Given the description of an element on the screen output the (x, y) to click on. 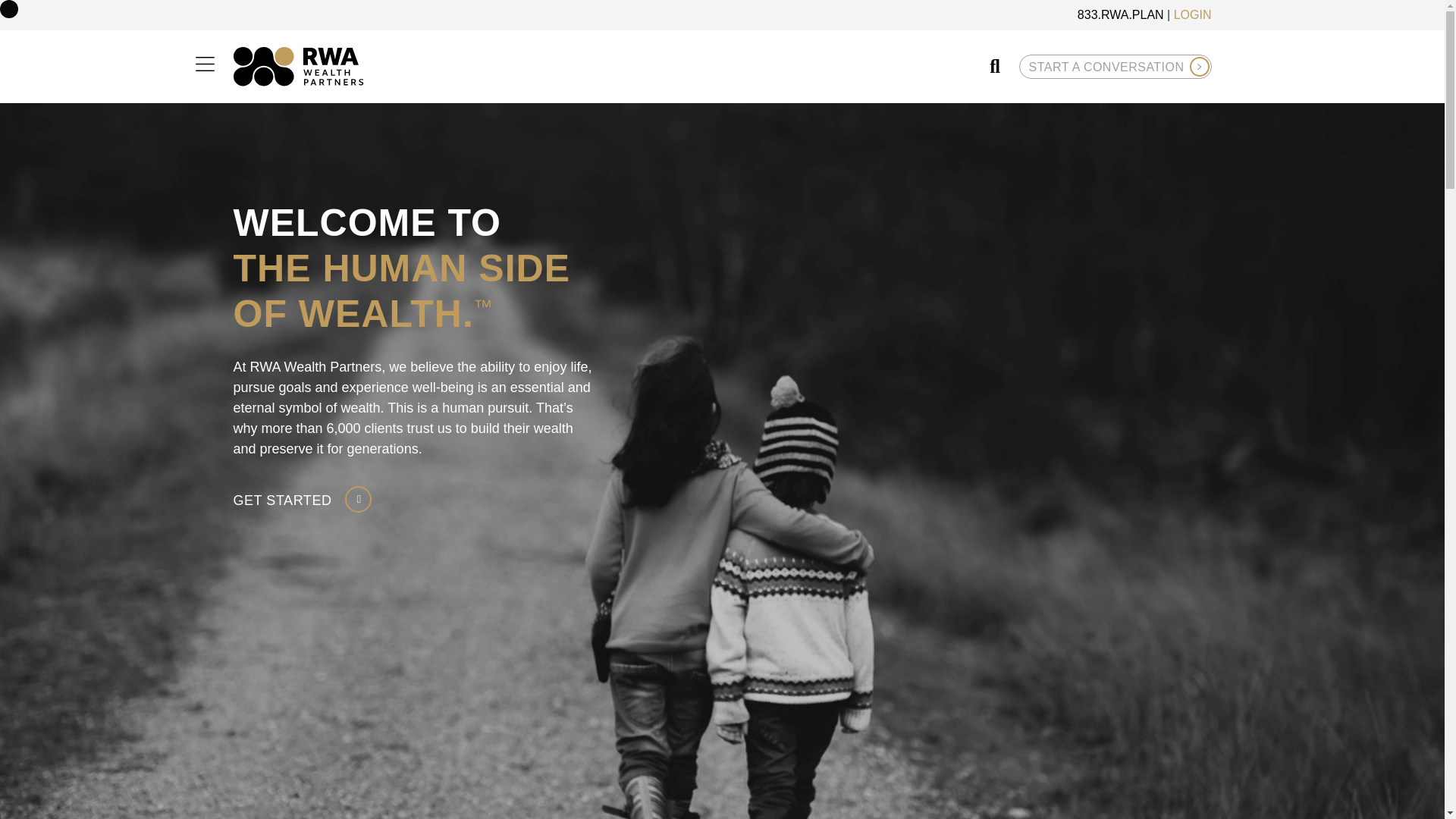
START A CONVERSATION (1115, 66)
833.RWA.PLAN (1120, 14)
LOGIN (1192, 14)
GET STARTED (302, 499)
